Given the description of an element on the screen output the (x, y) to click on. 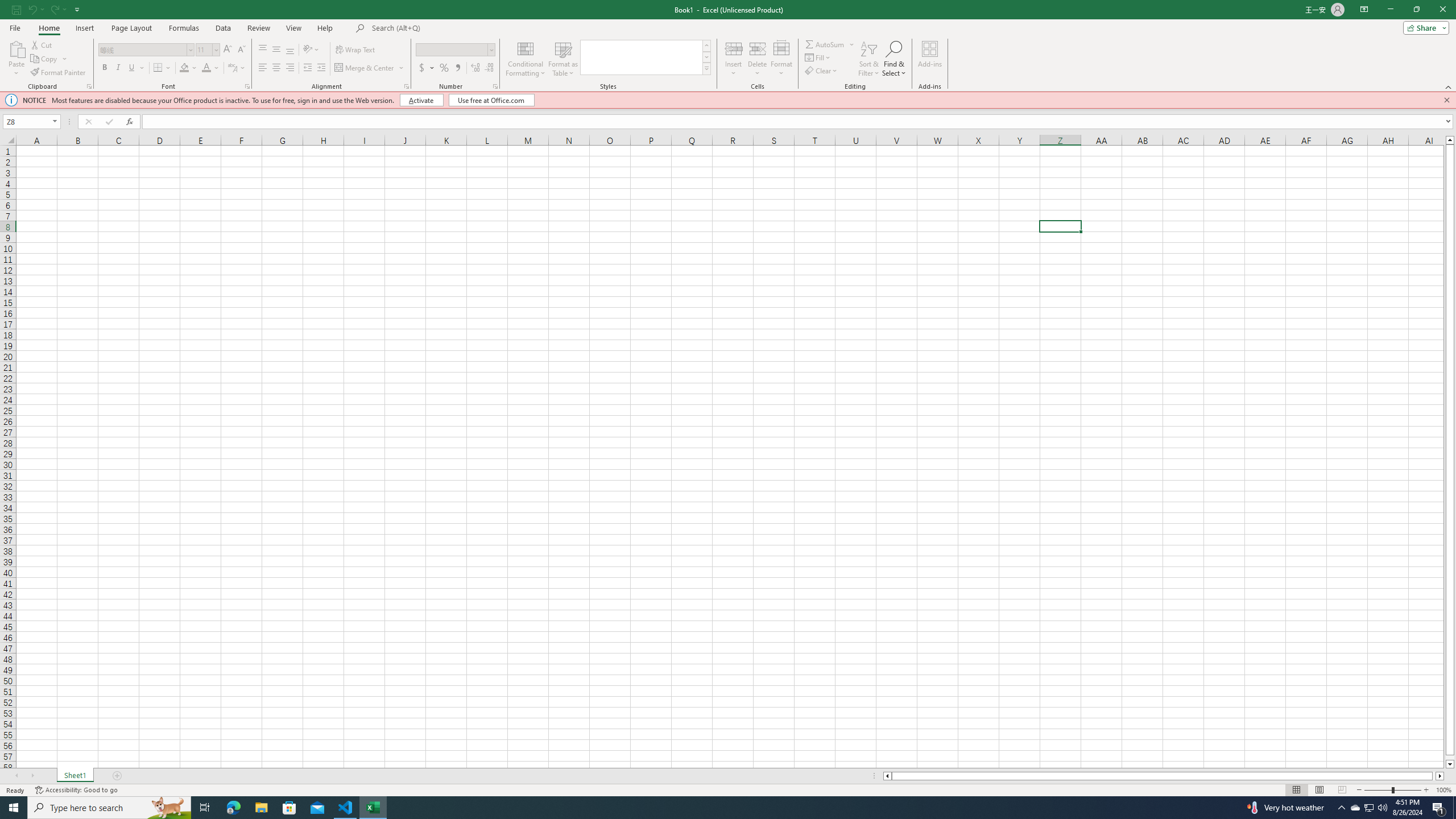
Comma Style (457, 67)
Font Color (210, 67)
Fill (818, 56)
Center (276, 67)
Copy (49, 58)
Bottom Border (157, 67)
Font Size (204, 49)
